Given the description of an element on the screen output the (x, y) to click on. 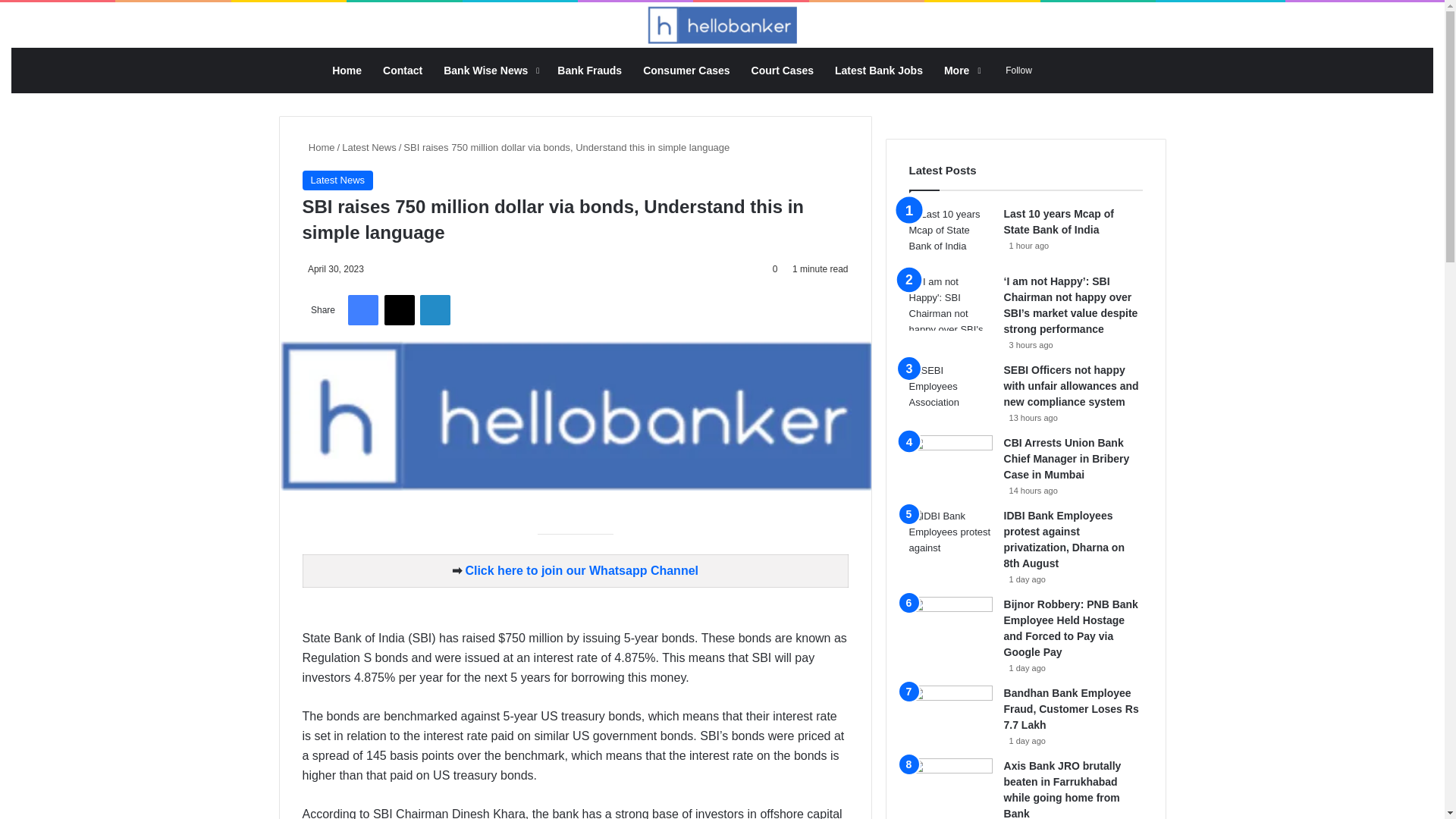
Bank Frauds (589, 70)
Bank Wise News (489, 70)
hellobanker (721, 24)
More (960, 70)
Latest News (336, 180)
Contact (402, 70)
Latest News (369, 147)
X (399, 309)
Consumer Cases (685, 70)
Follow (1015, 70)
